Given the description of an element on the screen output the (x, y) to click on. 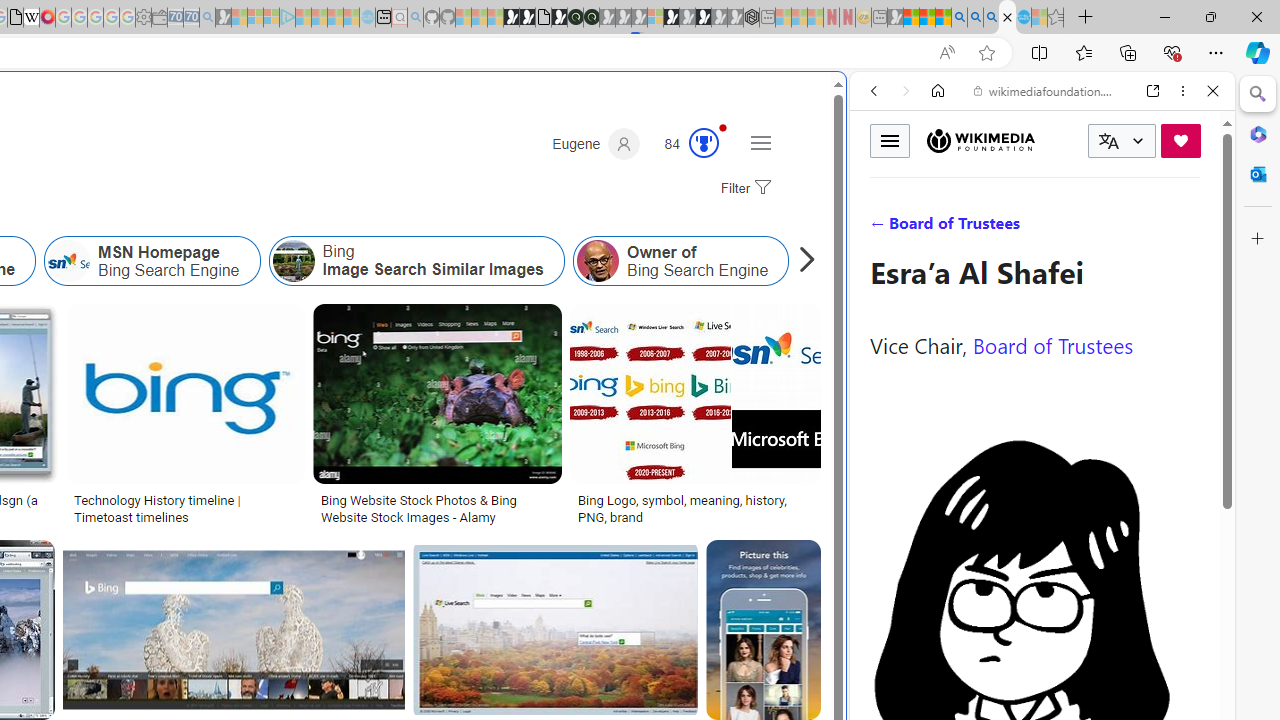
Wallet - Sleeping (159, 17)
Close split screen (844, 102)
Home | Sky Blue Bikes - Sky Blue Bikes (687, 426)
Close Customize pane (1258, 239)
Frequently visited (418, 265)
